Given the description of an element on the screen output the (x, y) to click on. 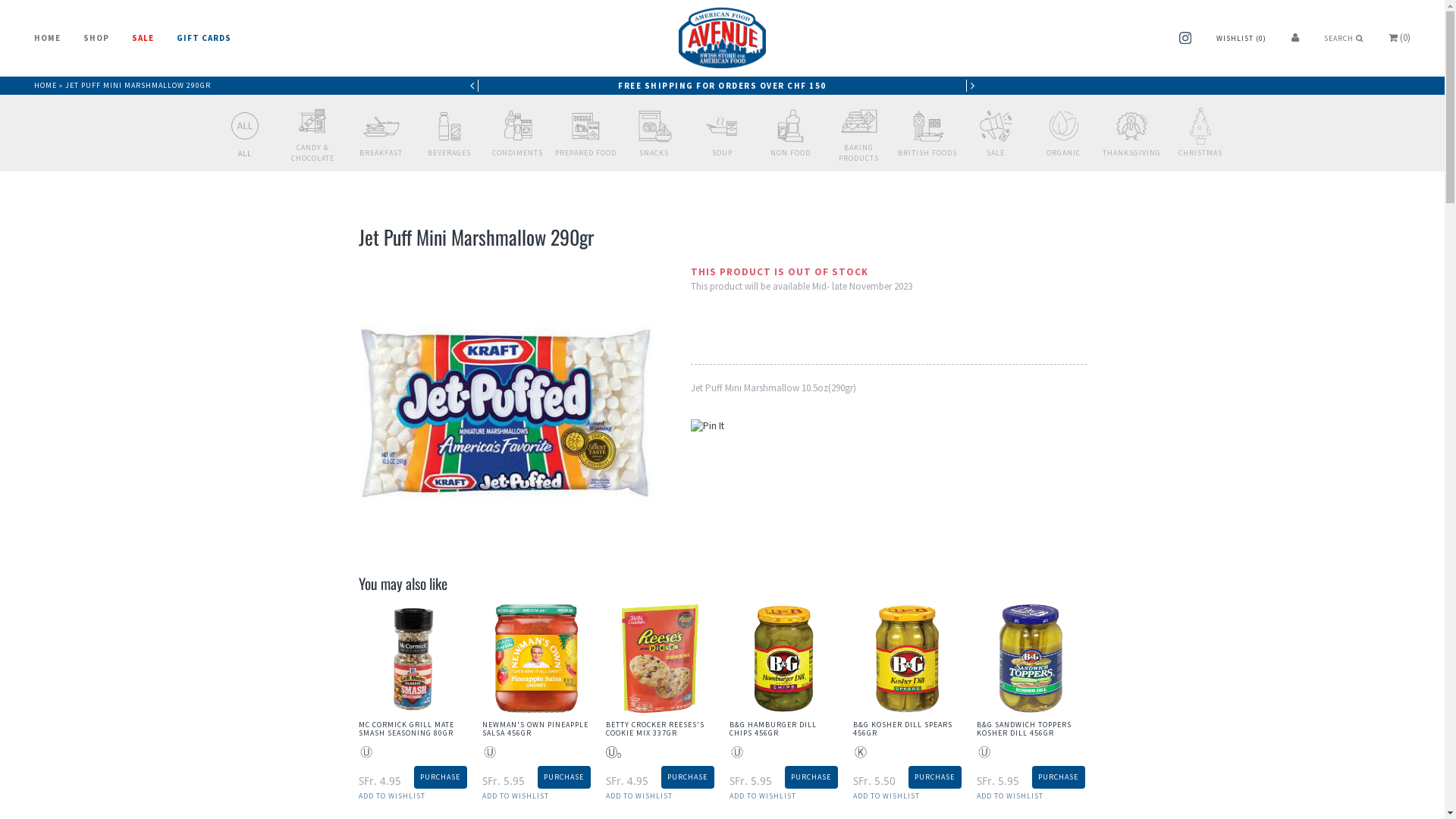
ALL Element type: text (244, 146)
BAKING PRODUCTS Element type: text (859, 147)
I Element type: text (972, 85)
PREPARED FOOD Element type: text (586, 147)
SNACKS Element type: text (654, 147)
SALE Element type: text (142, 42)
CANDY & CHOCOLATE Element type: text (313, 147)
NON FOOD Element type: text (790, 147)
B&G KOSHER DILL SPEARS 456GR Element type: text (901, 728)
SEARCH Element type: text (1343, 38)
WISHLIST (0) Element type: text (1241, 38)
BRITISH FOODS Element type: text (927, 147)
ADD TO WISHLIST Element type: text (1009, 795)
JET PUFF MINI MARSHMALLOW 290GR Element type: text (137, 85)
CHRISTMAS Element type: text (1200, 147)
SALE Element type: text (995, 147)
BEVERAGES Element type: text (449, 147)
Instagram Element type: text (1185, 40)
HOME Element type: text (45, 85)
American Food Ave. Element type: hover (721, 40)
Purchase Element type: text (810, 776)
ADD TO WISHLIST Element type: text (515, 795)
SOUP Element type: text (722, 147)
ADD TO WISHLIST Element type: text (762, 795)
BREAKFAST Element type: text (381, 147)
SHOP Element type: text (96, 42)
Purchase Element type: text (562, 776)
I Element type: text (471, 85)
B&G HAMBURGER DILL CHIPS 456GR Element type: text (772, 728)
THANKSGIVING Element type: text (1132, 147)
ADD TO WISHLIST Element type: text (885, 795)
ADD TO WISHLIST Element type: text (390, 795)
GIFT CARDS Element type: text (203, 42)
Purchase Element type: text (1057, 776)
FREE SHIPPING FOR ORDERS OVER CHF 150 Element type: text (722, 85)
Purchase Element type: text (440, 776)
ADD TO WISHLIST Element type: text (638, 795)
B&G SANDWICH TOPPERS KOSHER DILL 456GR Element type: text (1023, 728)
Purchase Element type: text (934, 776)
(0) Element type: text (1410, 37)
HOME Element type: text (47, 42)
CONDIMENTS Element type: text (517, 147)
NEWMAN'S OWN PINEAPPLE SALSA 456GR Element type: text (535, 728)
Purchase Element type: text (687, 776)
Pin It Element type: hover (706, 426)
ORGANIC Element type: text (1063, 147)
MC CORMICK GRILL MATE SMASH SEASONING 80GR Element type: text (405, 728)
BETTY CROCKER REESES'S COOKIE MIX 337GR Element type: text (654, 728)
